Given the description of an element on the screen output the (x, y) to click on. 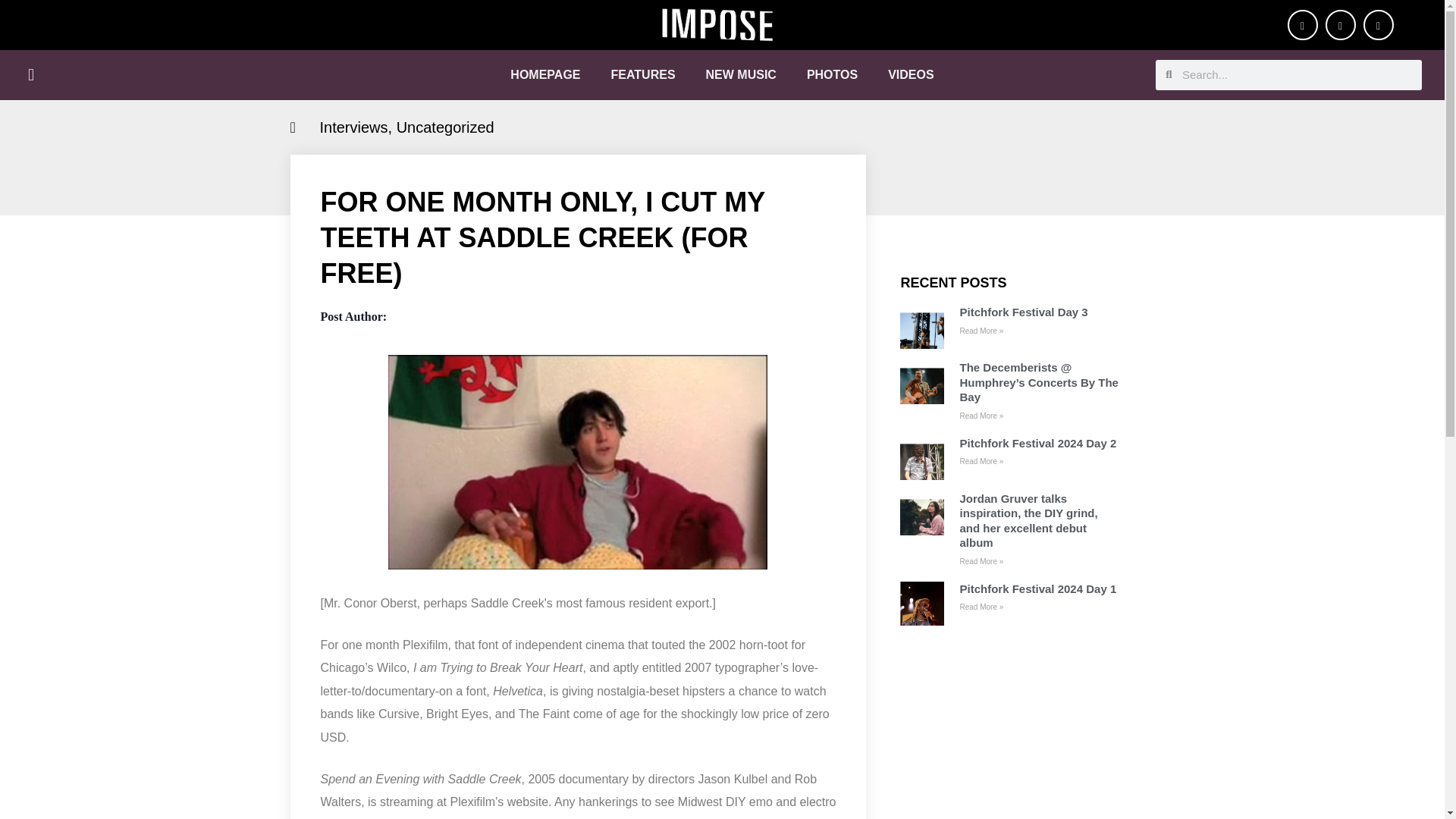
Pitchfork Festival Day 3 (1023, 312)
Interviews (354, 126)
Pitchfork Festival 2024 Day 2 (1037, 443)
PHOTOS (832, 74)
VIDEOS (910, 74)
NEW MUSIC (741, 74)
FEATURES (642, 74)
HOMEPAGE (545, 74)
Uncategorized (445, 126)
